Given the description of an element on the screen output the (x, y) to click on. 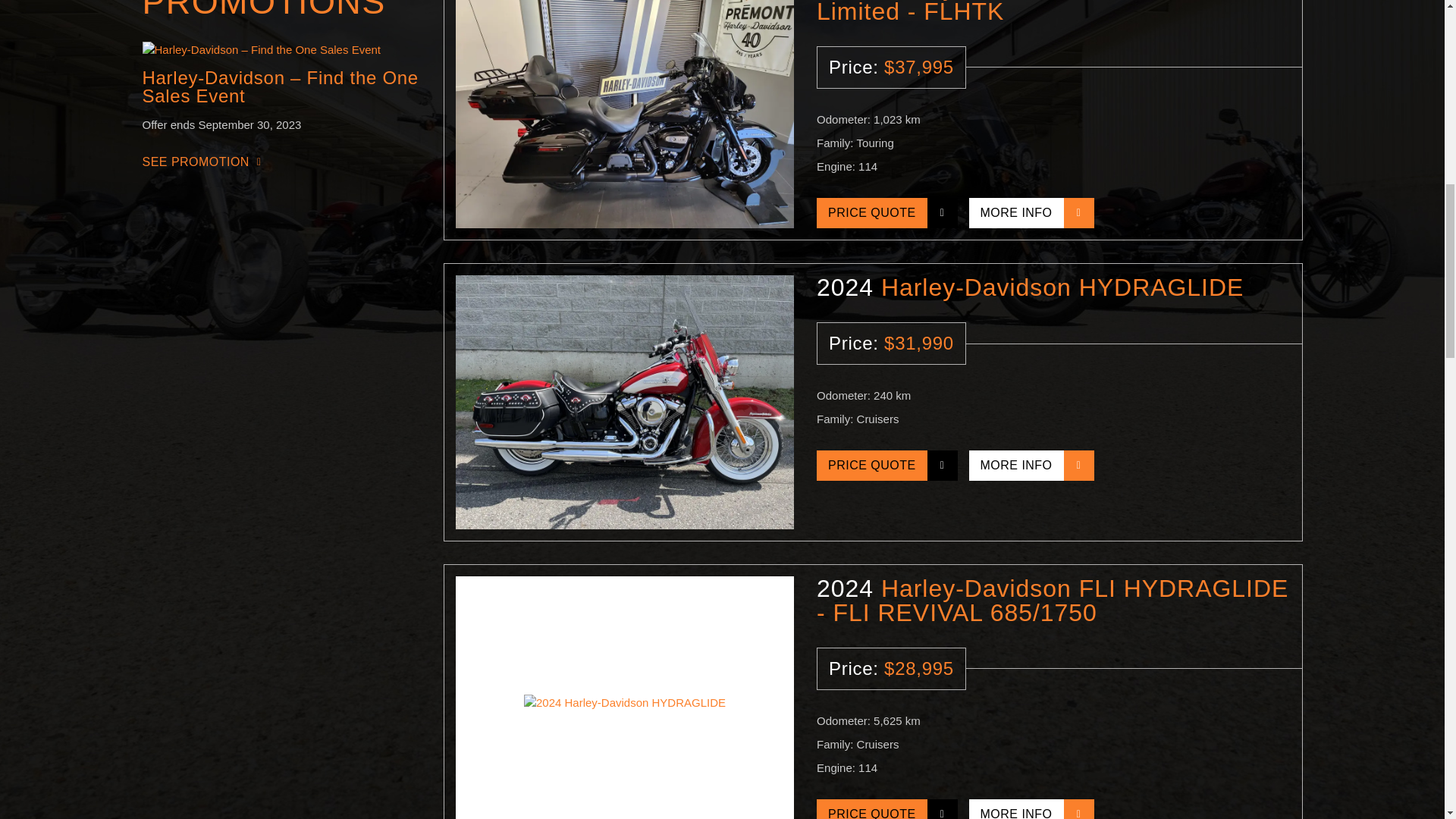
2024 Harley-Davidson HYDRAGLIDE (624, 402)
2024 Harley-Davidson HYDRAGLIDE (624, 697)
